Given the description of an element on the screen output the (x, y) to click on. 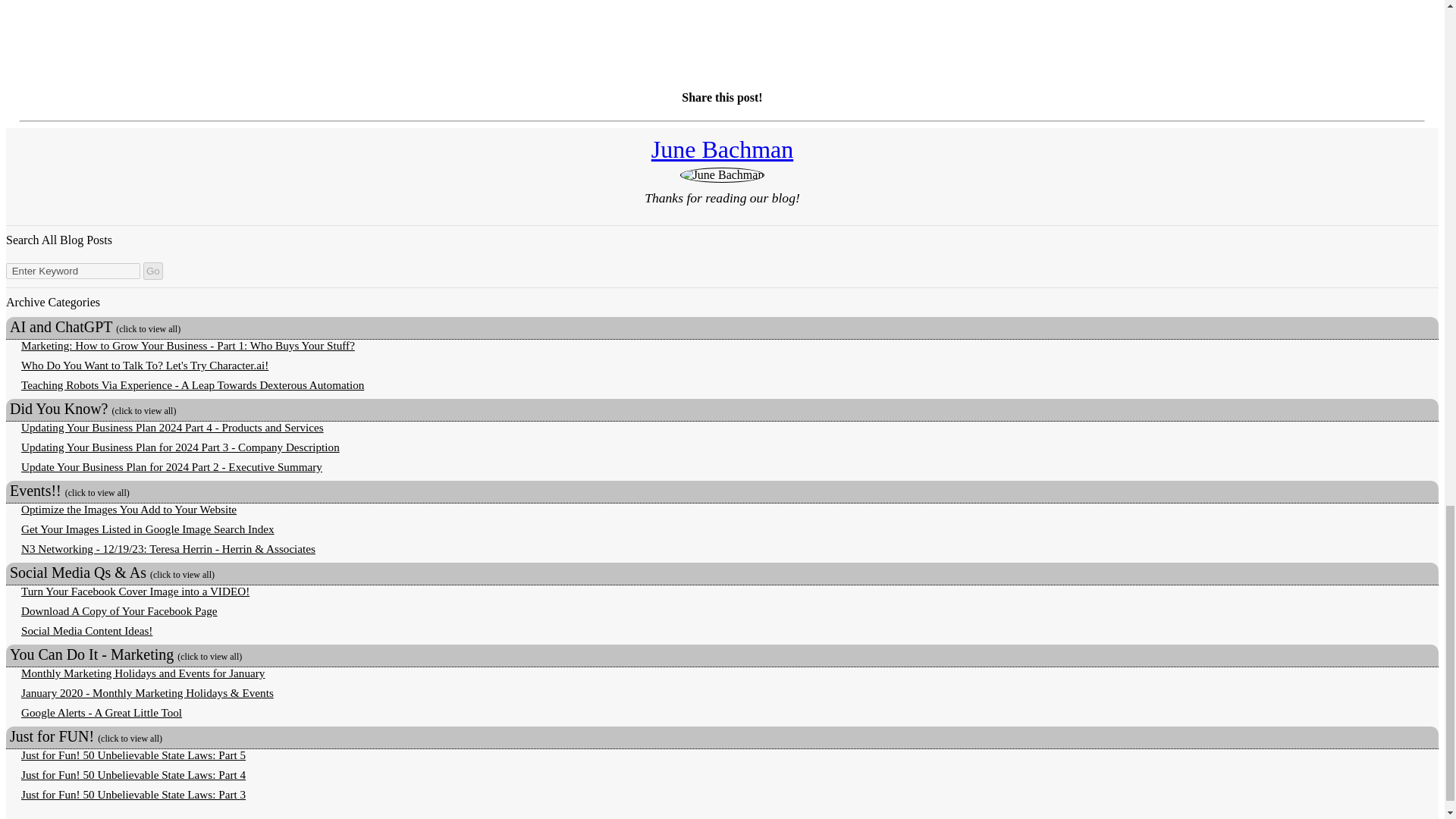
Who Do You Want to Talk To? Let's Try Character.ai! (144, 364)
Go (152, 271)
Optimize the Images You Add to Your Website (128, 508)
June Bachman (721, 148)
Google Alerts - A Great Little Tool (101, 712)
Just for Fun! 50 Unbelievable State Laws: Part 5 (133, 754)
Turn Your Facebook Cover Image into a VIDEO! (134, 590)
Social Media Content Ideas! (86, 630)
 Enter Keyword (72, 270)
Download A Copy of Your Facebook Page (118, 610)
